Given the description of an element on the screen output the (x, y) to click on. 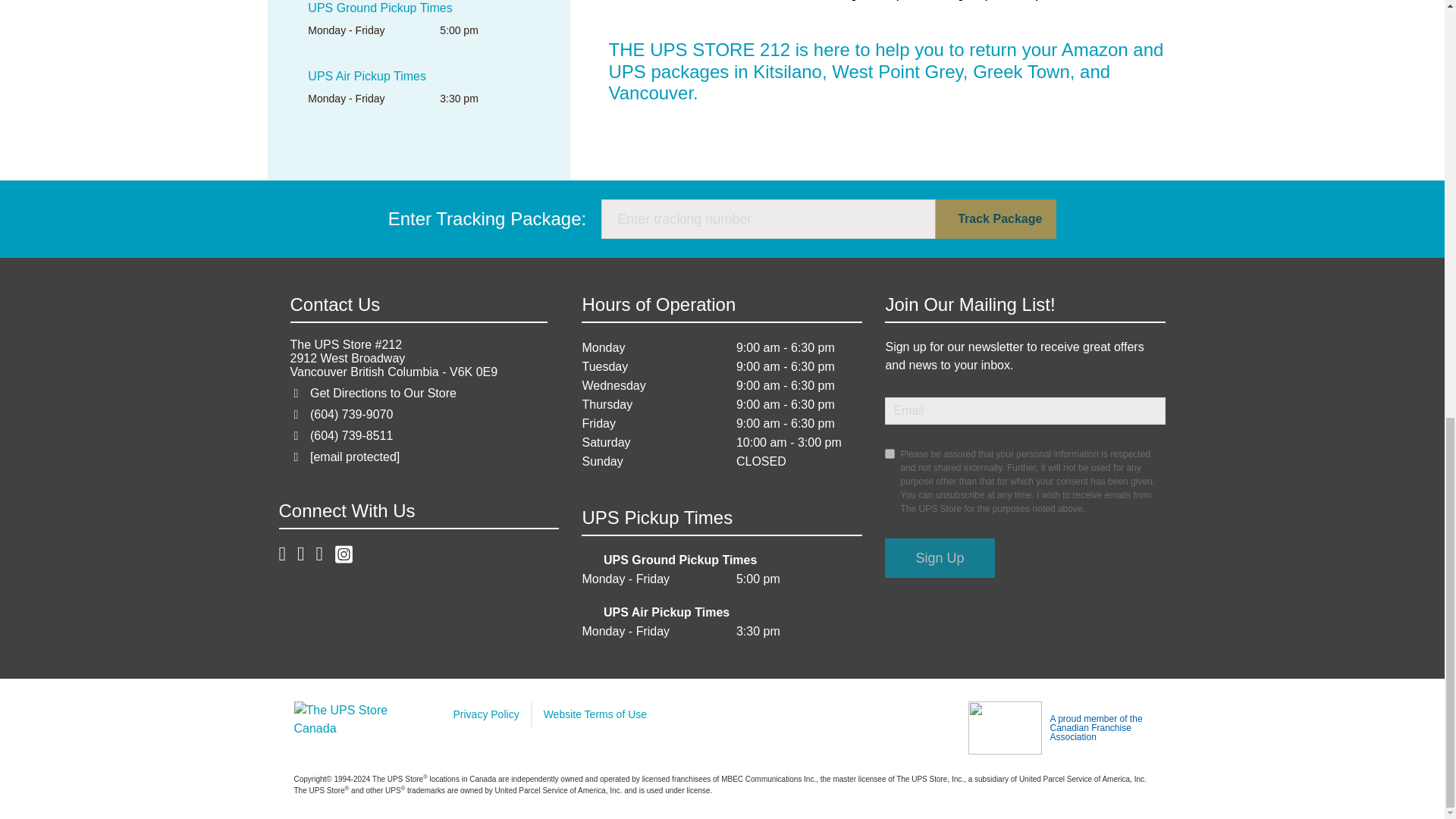
Sign Up (939, 558)
Track Package (995, 219)
Get Directions to Our Store (383, 392)
